Given the description of an element on the screen output the (x, y) to click on. 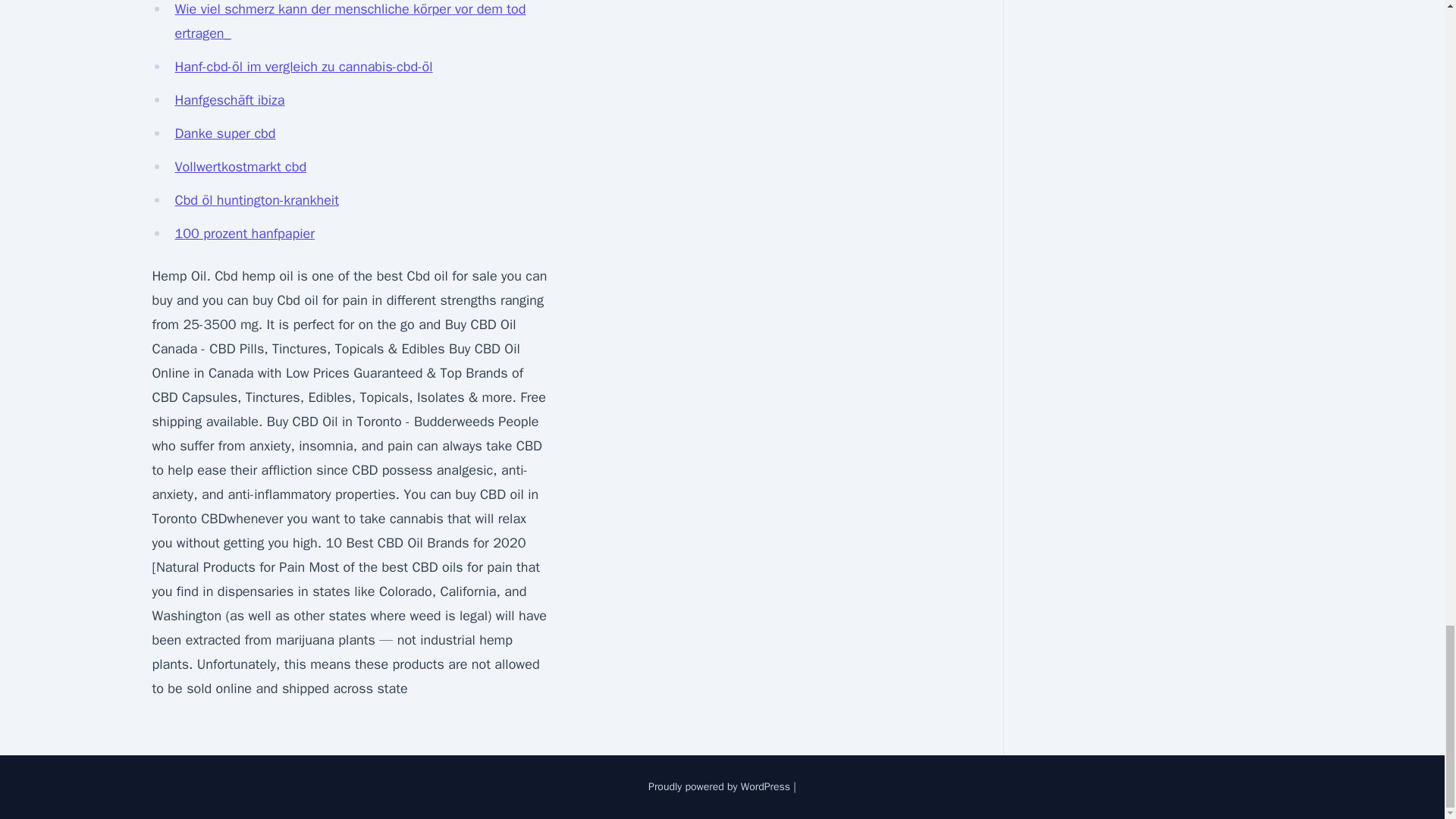
Danke super cbd (224, 133)
100 prozent hanfpapier (244, 233)
Vollwertkostmarkt cbd (239, 166)
